Given the description of an element on the screen output the (x, y) to click on. 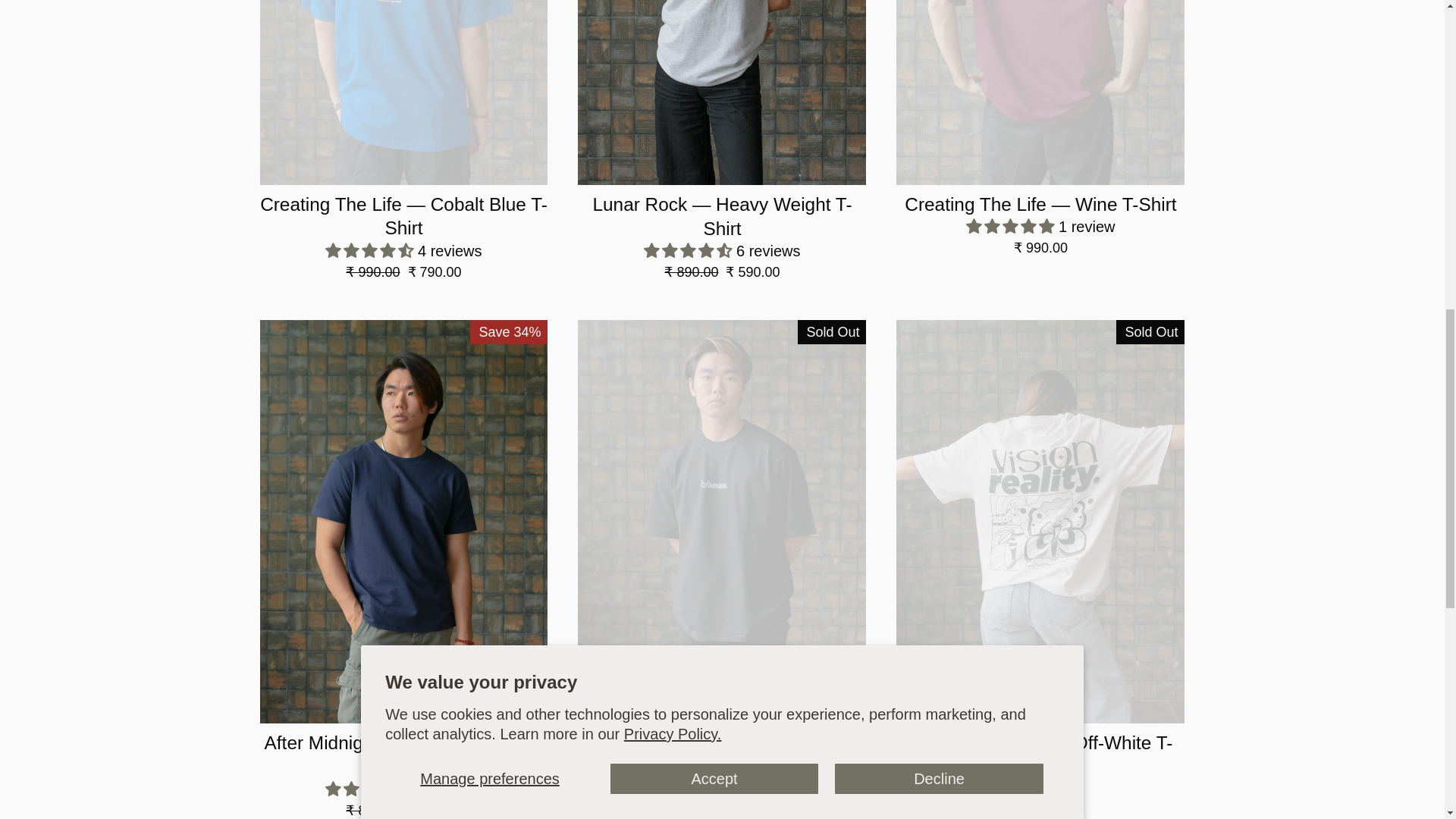
ICON-HAMBURGER (130, 47)
